Given the description of an element on the screen output the (x, y) to click on. 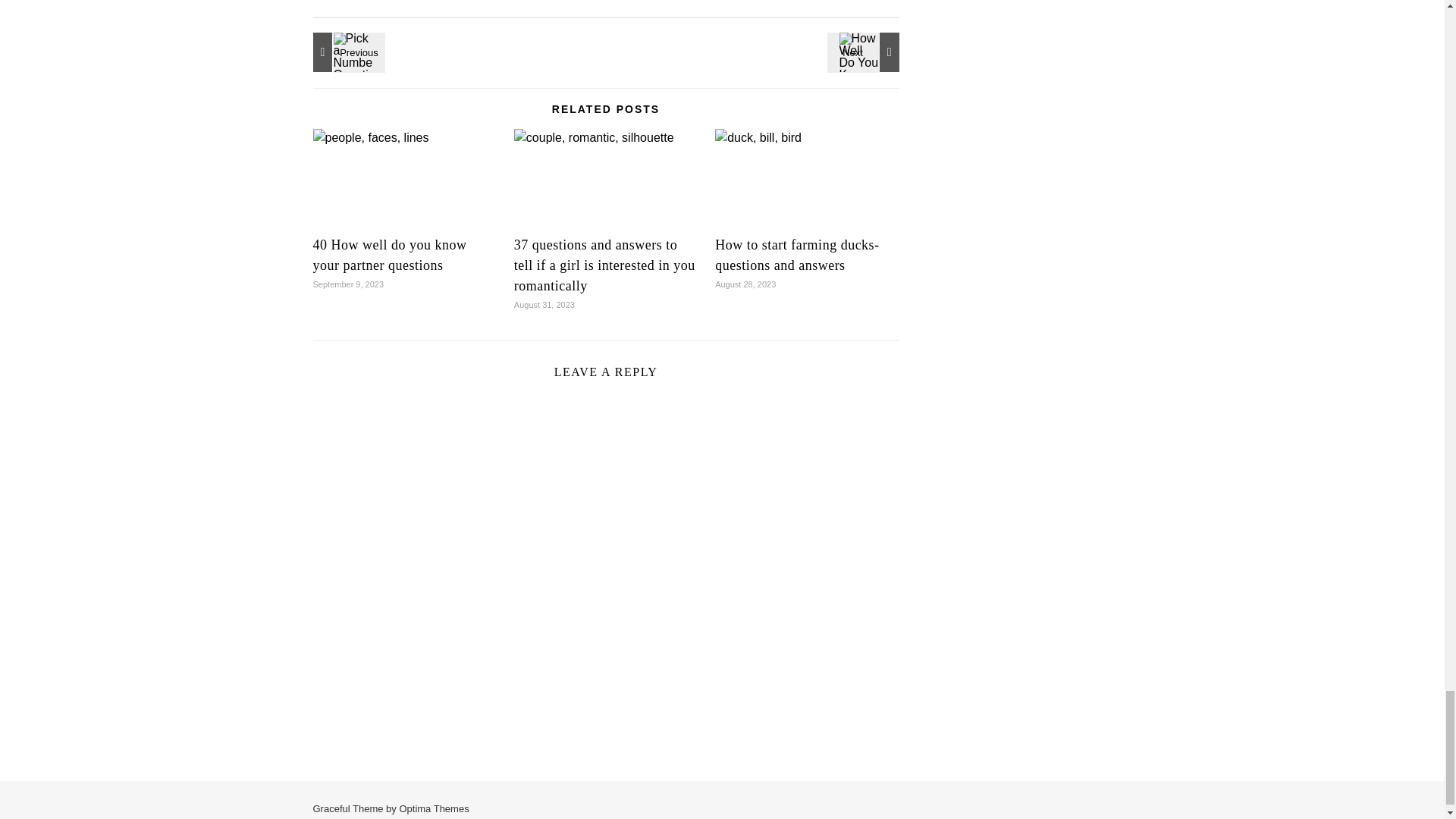
18 Best Pick a Number Questions (346, 52)
23 Unusual How Well Do You Know Your Brother Questions (865, 52)
